Given the description of an element on the screen output the (x, y) to click on. 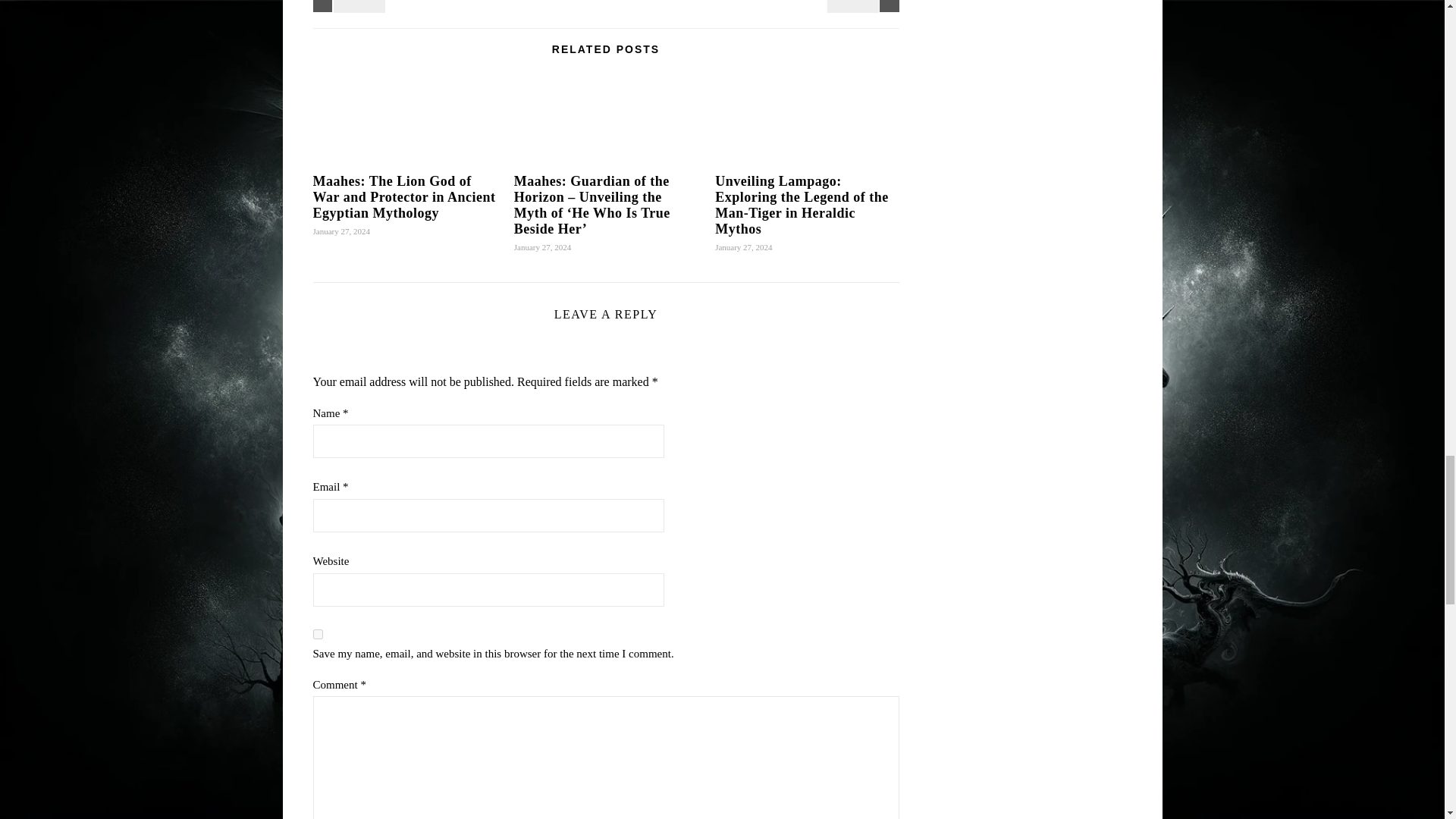
Unveiling Lampago: The Enigma of Heraldry's Man-Tiger Legend (865, 6)
yes (317, 634)
